Given the description of an element on the screen output the (x, y) to click on. 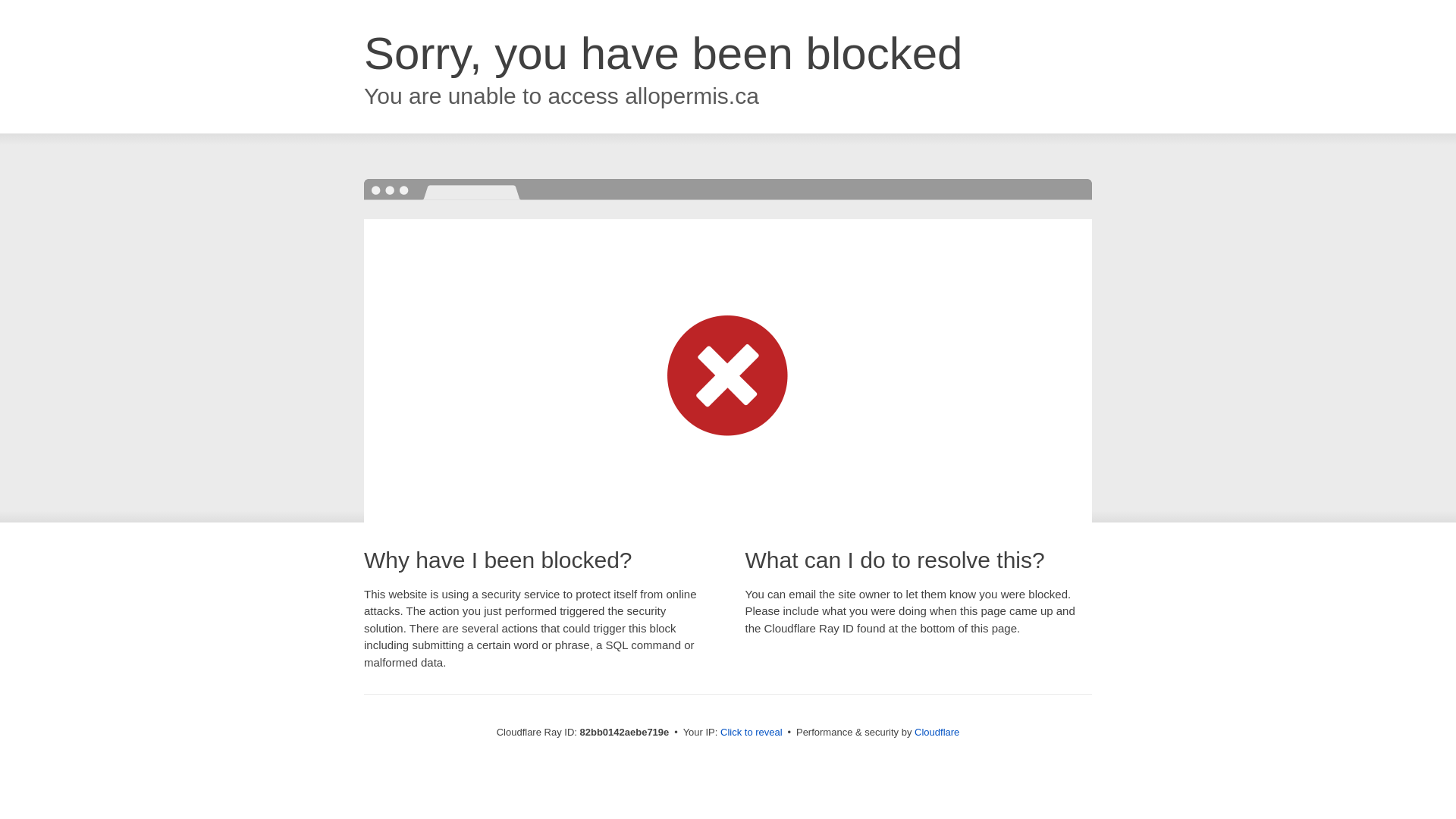
Click to reveal Element type: text (751, 732)
Cloudflare Element type: text (936, 731)
